Given the description of an element on the screen output the (x, y) to click on. 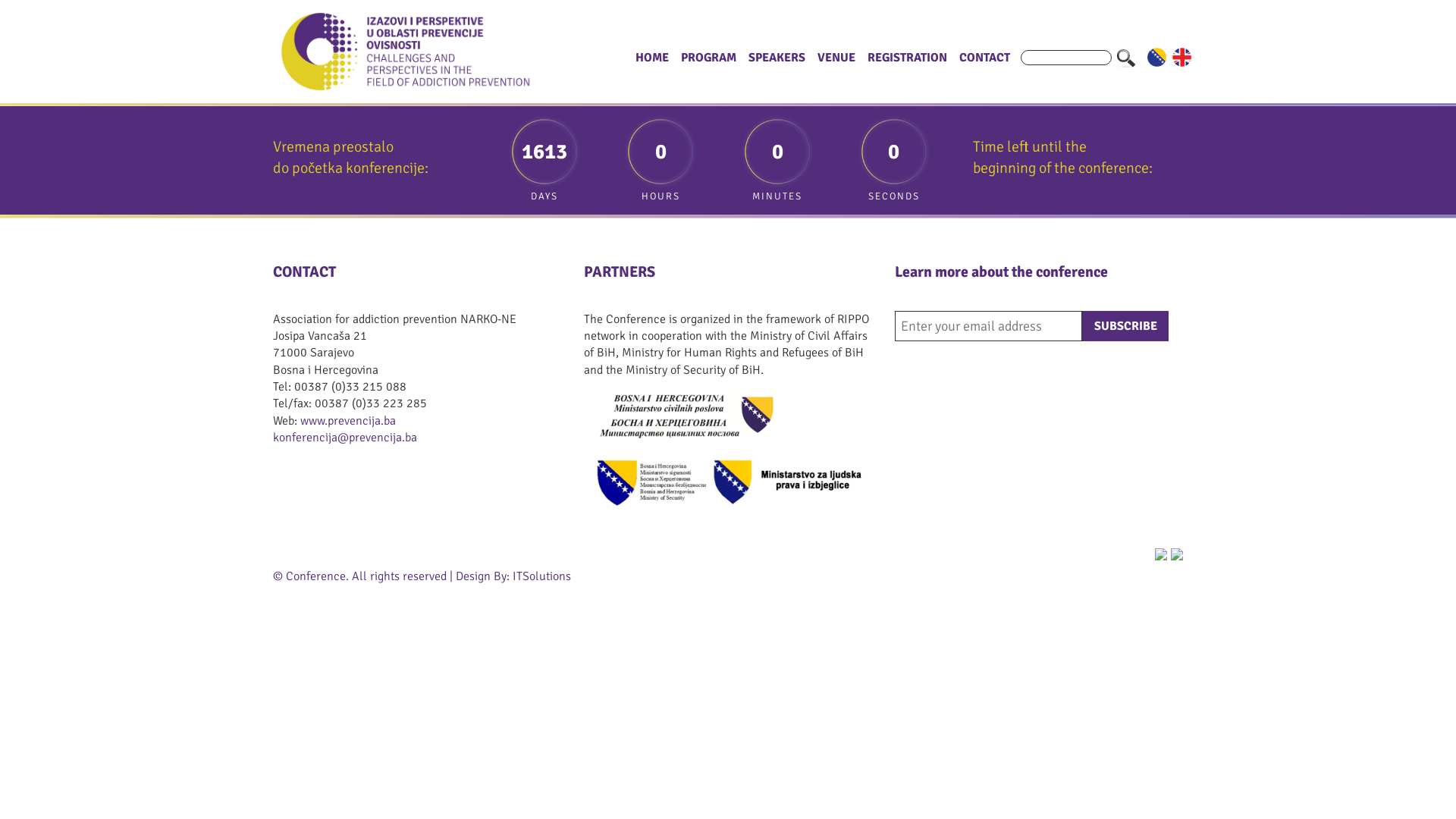
PROGRAM Element type: text (708, 57)
English (United Kingdom) Element type: hover (1181, 56)
ITSolutions Element type: text (541, 575)
Youtube Element type: hover (1182, 553)
konferencija@prevencija.ba Element type: text (345, 437)
CONTACT Element type: text (984, 57)
VENUE Element type: text (836, 57)
www.prevencija.ba Element type: text (347, 420)
REGISTRATION Element type: text (907, 57)
HOME Element type: text (651, 57)
SPEAKERS Element type: text (776, 57)
FB Element type: hover (1166, 553)
SUBSCRIBE Element type: text (1125, 325)
Bosanski (Bosnia and Herzegovina) Element type: hover (1156, 56)
